Given the description of an element on the screen output the (x, y) to click on. 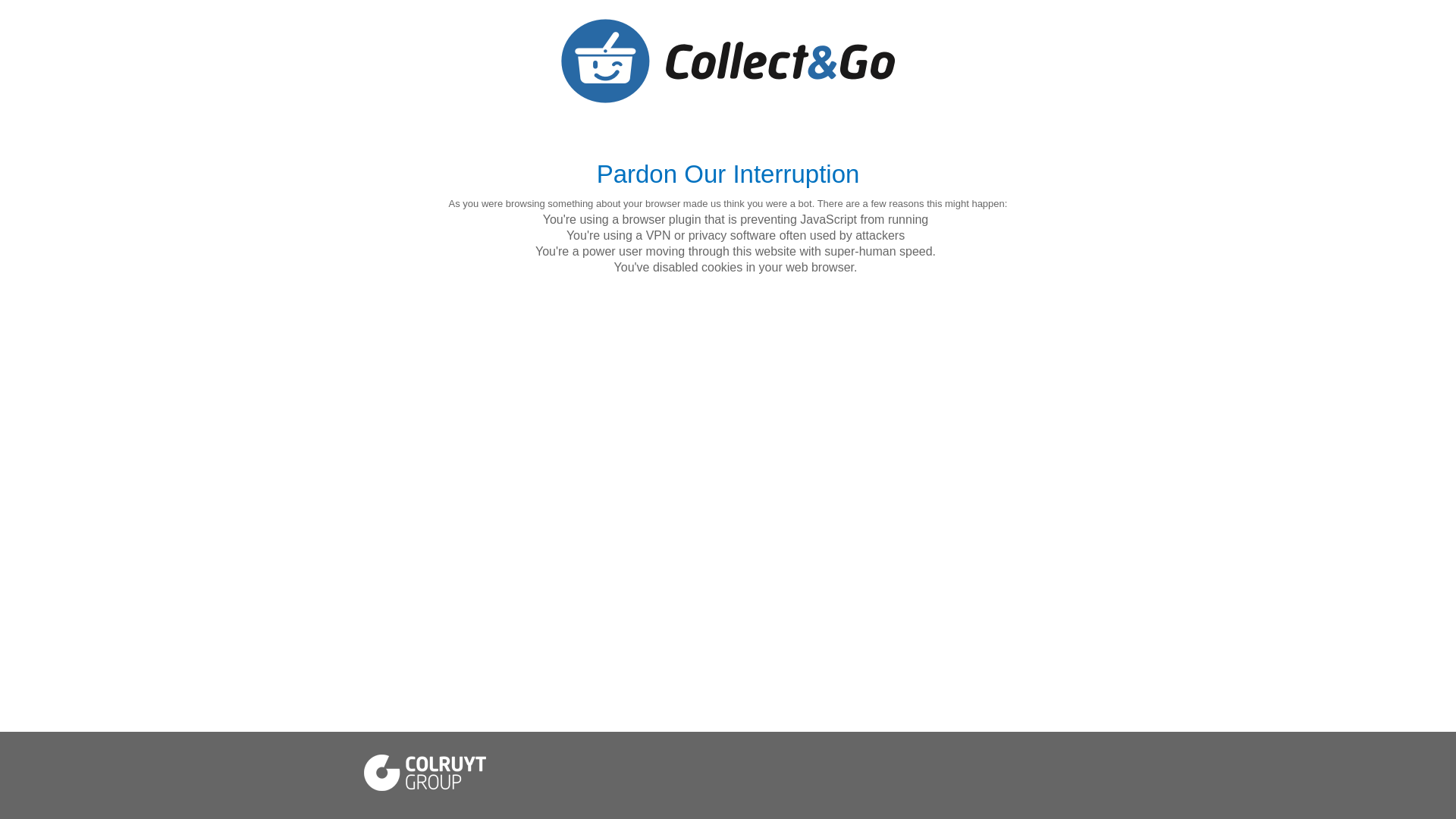
browser plugin Element type: text (660, 219)
